Given the description of an element on the screen output the (x, y) to click on. 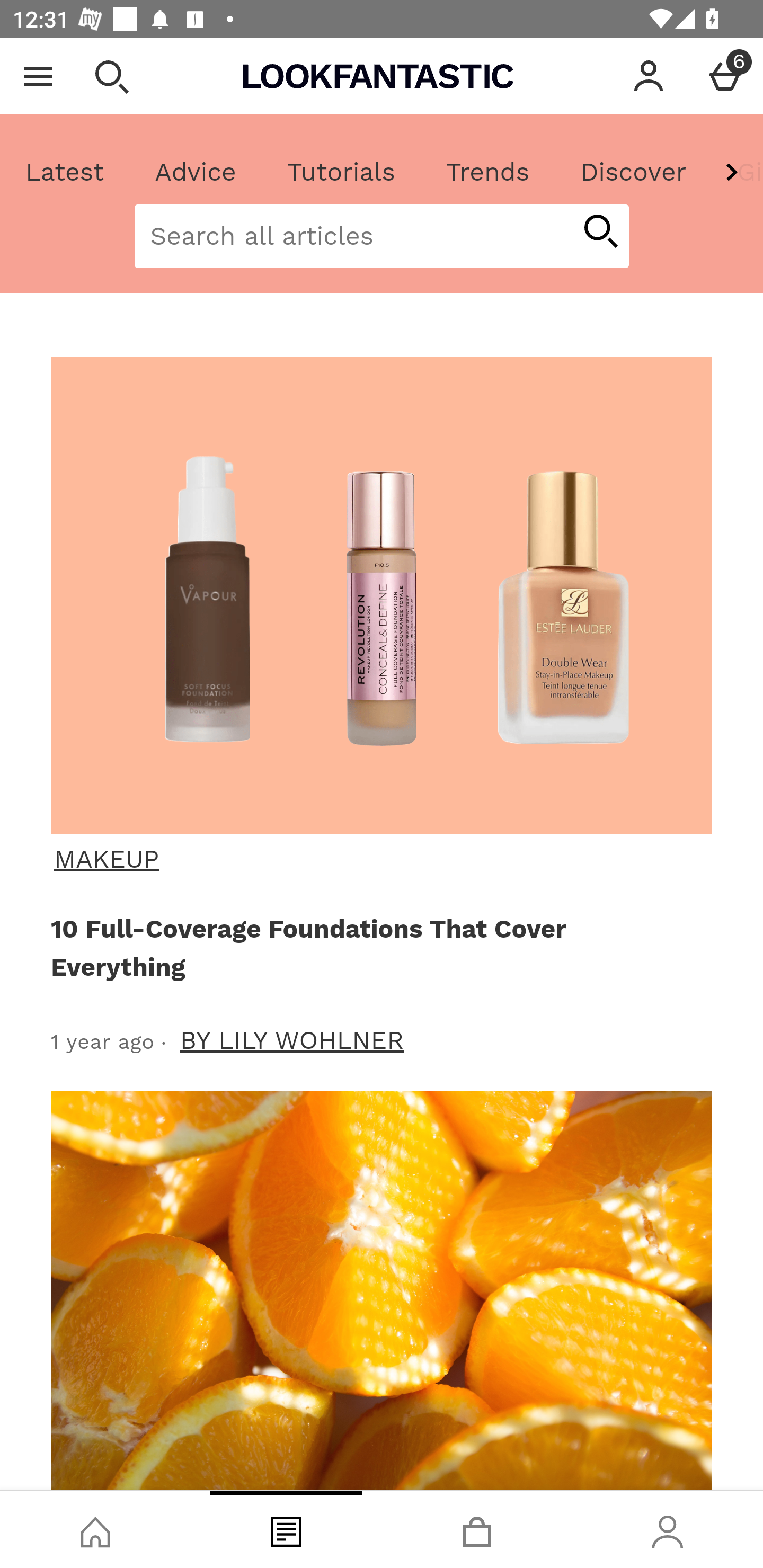
Open Menu (38, 75)
Open search (111, 75)
Account (648, 75)
Basket Menu (724, 75)
Lookfantastic USA Home page (378, 76)
Latest (65, 172)
Advice (195, 172)
Tutorials (340, 172)
Trends (486, 172)
Discover (632, 172)
Gift Guide (736, 172)
start article search (599, 232)
MAKEUP (379, 858)
10 Full-Coverage Foundations That Cover Everything (377, 947)
BY LILY WOHLNER (292, 1040)
Shop, tab, 1 of 4 (95, 1529)
Blog, tab, 2 of 4 (285, 1529)
Basket, tab, 3 of 4 (476, 1529)
Account, tab, 4 of 4 (667, 1529)
